Given the description of an element on the screen output the (x, y) to click on. 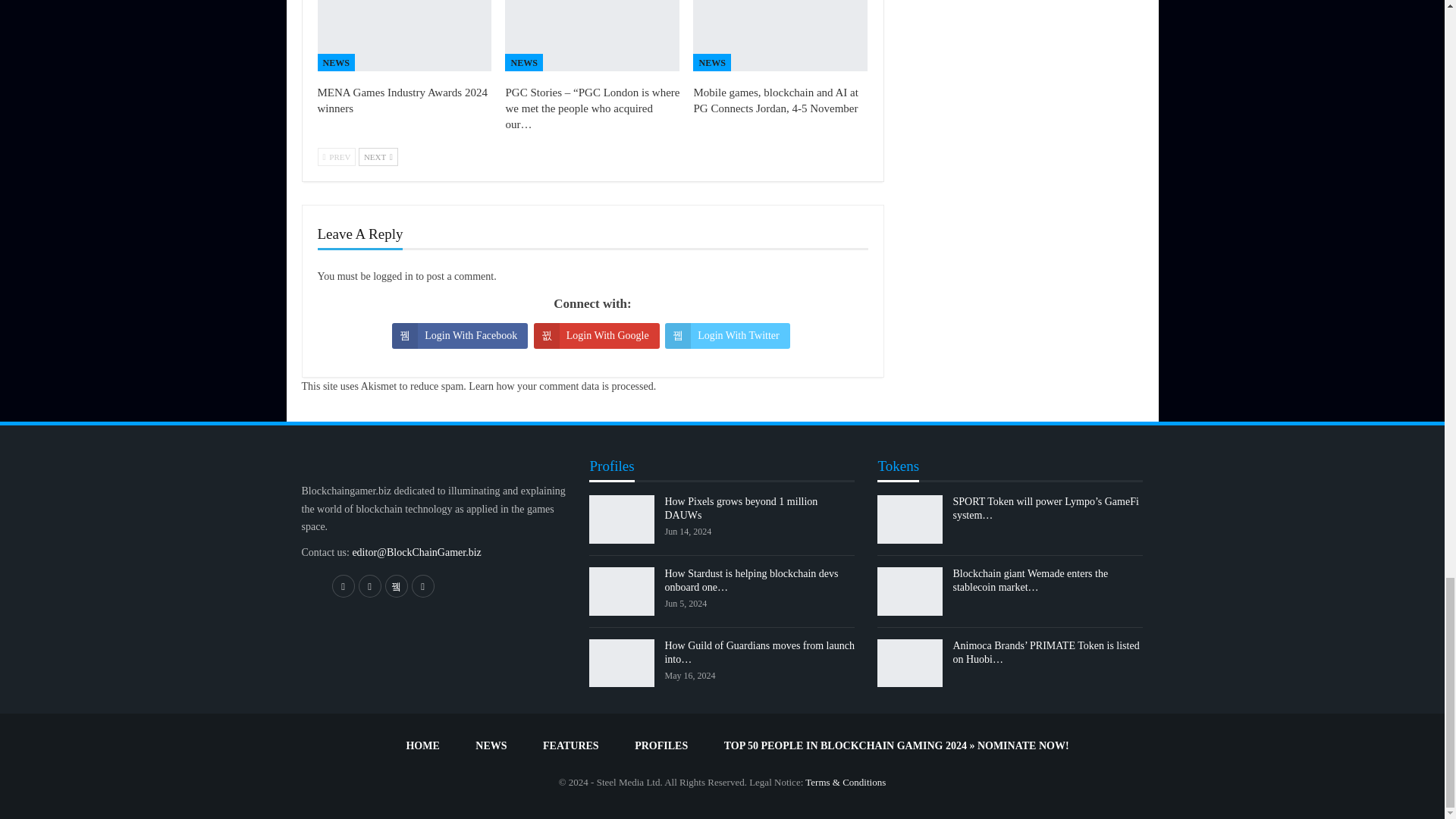
Previous (336, 157)
Next (377, 157)
MENA Games Industry Awards 2024 winners (404, 35)
MENA Games Industry Awards 2024 winners (401, 100)
